Given the description of an element on the screen output the (x, y) to click on. 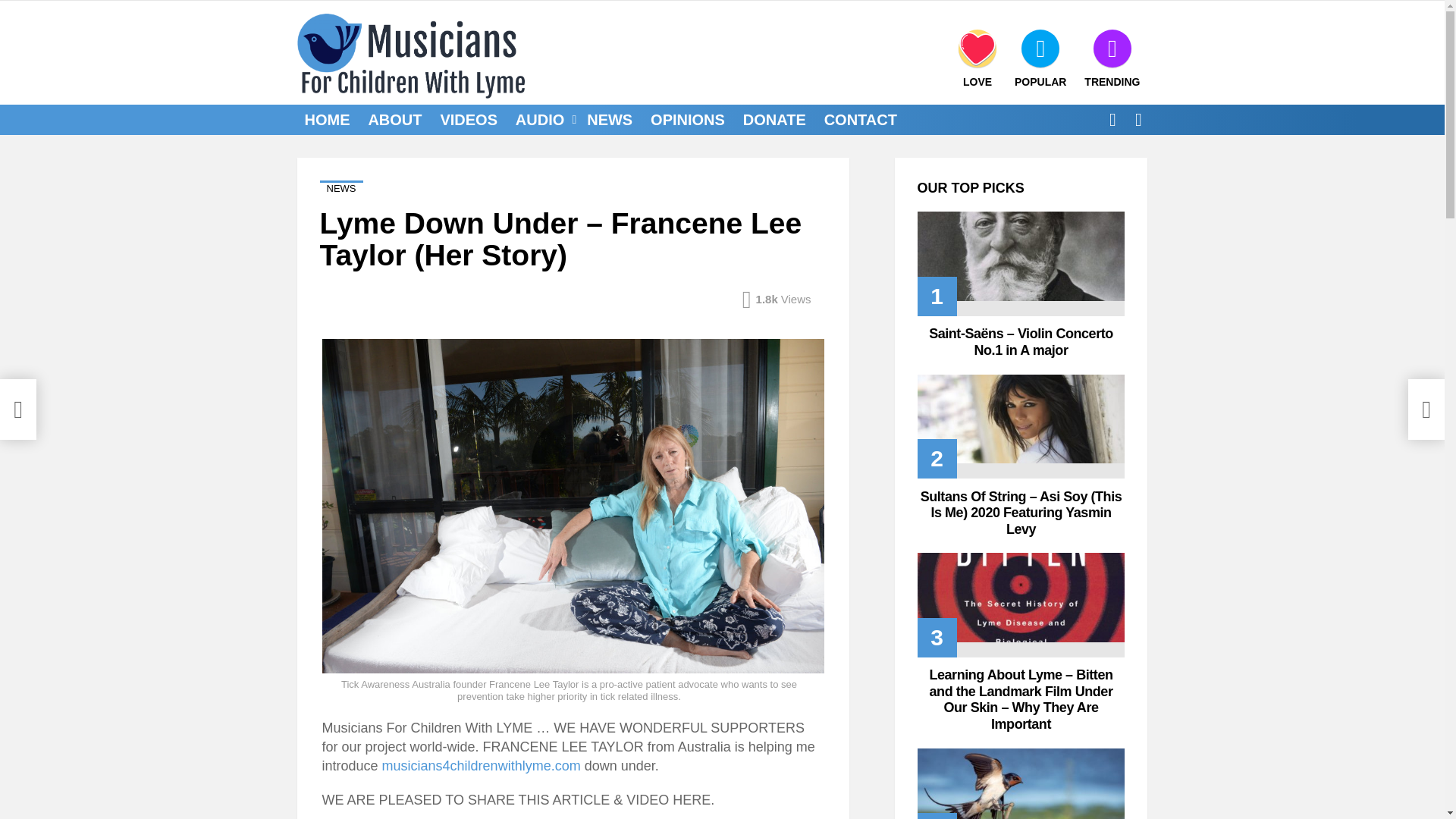
AUDIO (542, 119)
NEWS (341, 187)
musicians4childrenwithlyme.com (480, 765)
LOVE (977, 58)
ABOUT (394, 119)
CONTACT (860, 119)
VIDEOS (468, 119)
DONATE (774, 119)
HOME (327, 119)
OPINIONS (687, 119)
TRENDING (1112, 58)
NEWS (609, 119)
POPULAR (1040, 58)
